Given the description of an element on the screen output the (x, y) to click on. 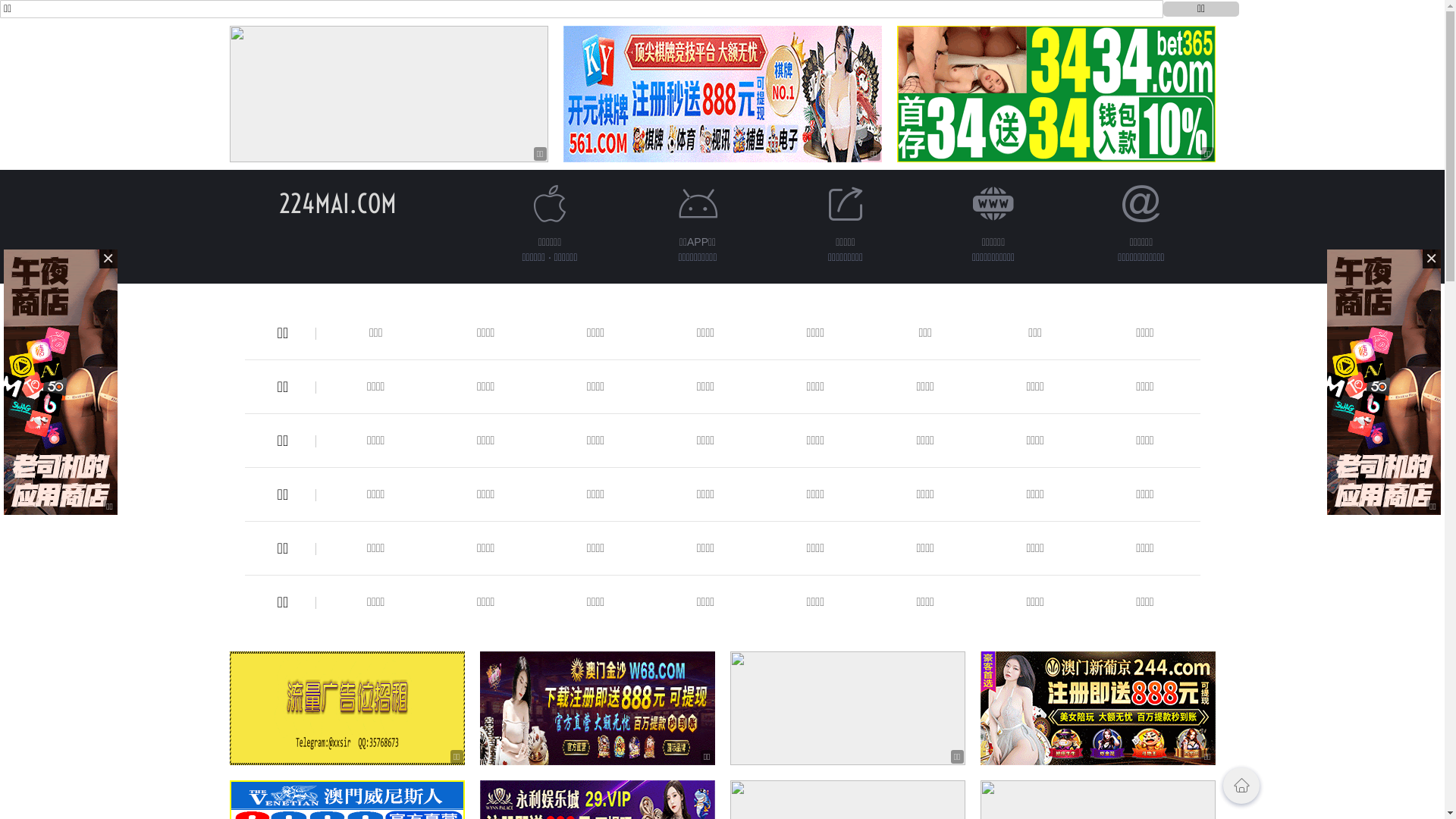
224MAI.COM Element type: text (337, 203)
